Given the description of an element on the screen output the (x, y) to click on. 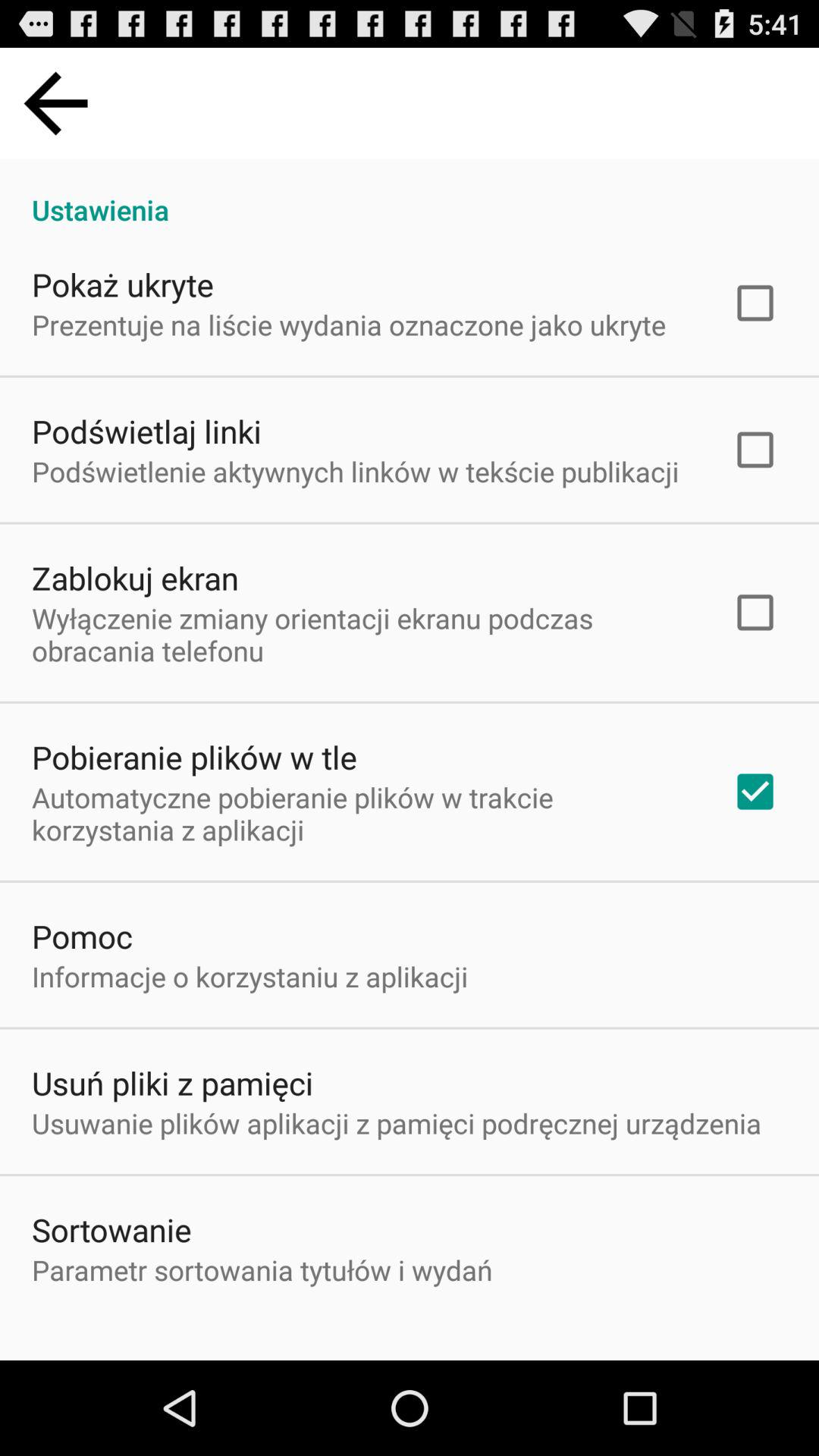
launch icon below sortowanie (261, 1269)
